Given the description of an element on the screen output the (x, y) to click on. 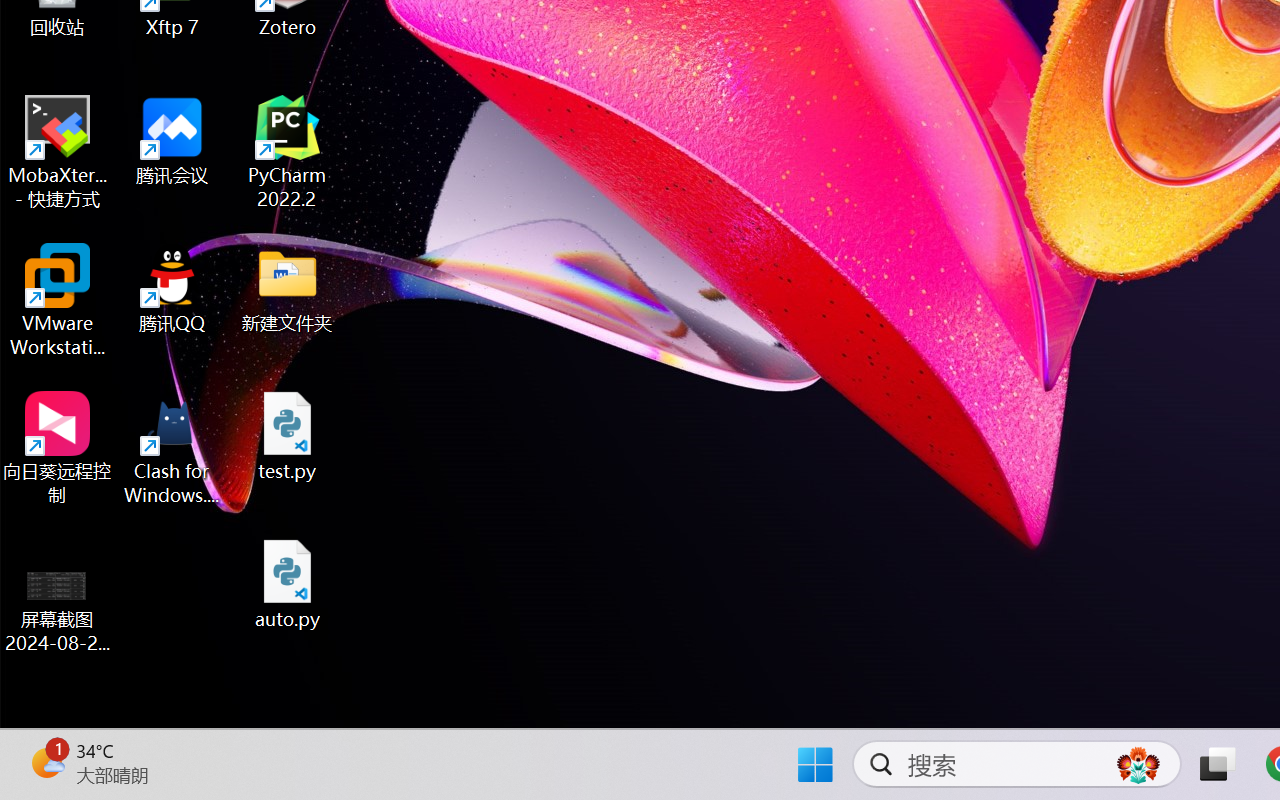
test.py (287, 436)
PyCharm 2022.2 (287, 152)
auto.py (287, 584)
VMware Workstation Pro (57, 300)
